Given the description of an element on the screen output the (x, y) to click on. 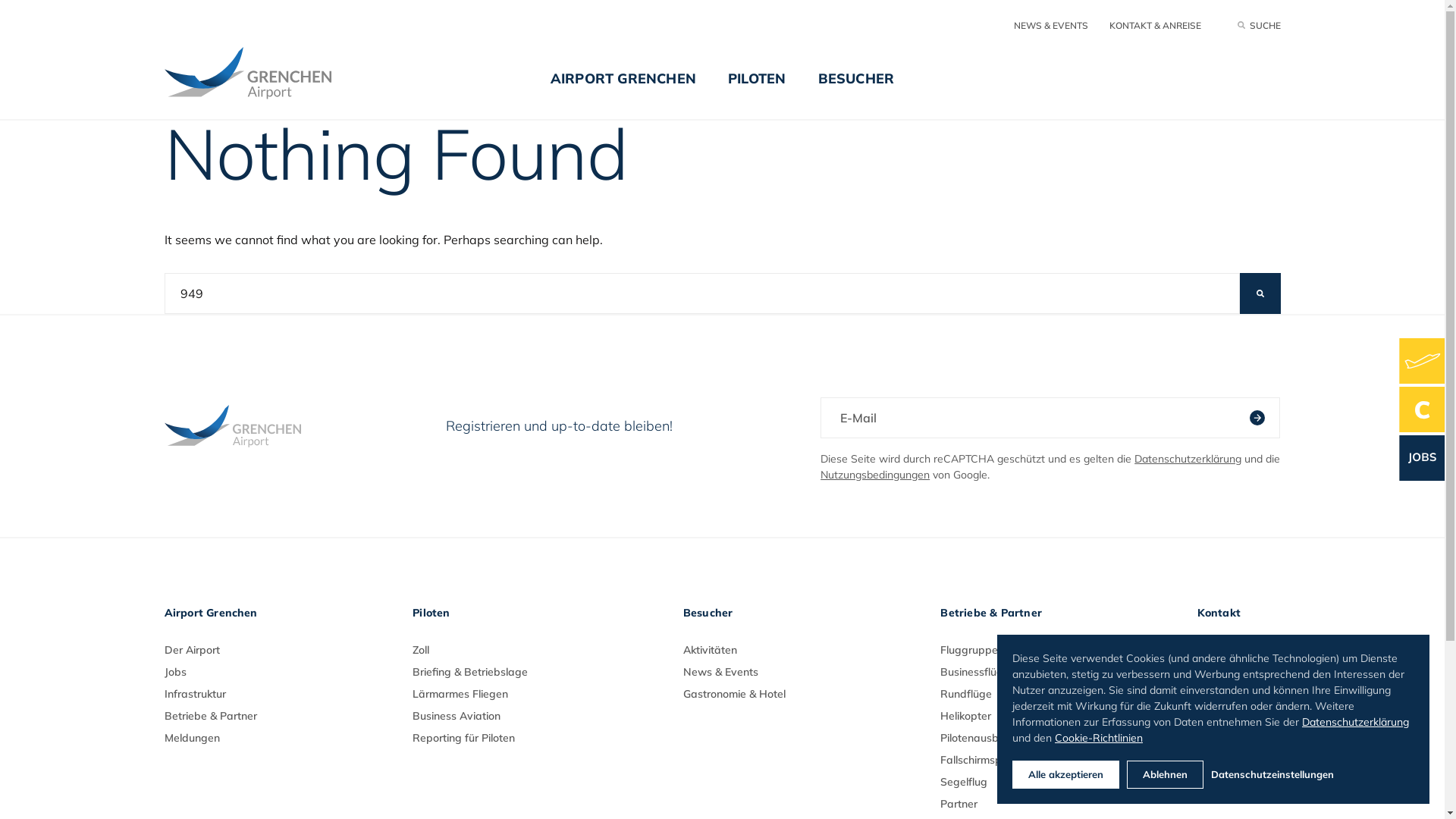
Der Airport Element type: text (191, 649)
Kontaktadresse Element type: text (1235, 671)
linkedin Element type: text (1273, 788)
Partner Element type: text (958, 803)
PILOTEN Element type: text (756, 89)
Gastronomie & Hotel Element type: text (734, 693)
BESUCHER Element type: text (856, 89)
Meldungen Element type: text (191, 737)
Nutzungsbedingungen Element type: text (874, 474)
instagram Element type: text (1203, 788)
News & Events Element type: text (720, 671)
Helikopter Element type: text (965, 715)
NEWS & EVENTS Element type: text (1050, 24)
Grenchen Airport Element type: hover (246, 73)
Pilotenausbildung Element type: text (984, 737)
Business Aviation Element type: text (456, 715)
SEARCH Element type: text (1259, 293)
Anreise Element type: text (1214, 649)
Briefing & Betriebslage Element type: text (469, 671)
Infrastruktur Element type: text (194, 693)
Kontaktformular Element type: text (1236, 693)
Jobs Element type: text (174, 671)
AIRPORT GRENCHEN Element type: text (623, 89)
KONTAKT & ANREISE Element type: text (1154, 24)
Fallschirmspringer Element type: text (985, 759)
Cookie-Richtlinien Element type: text (1098, 736)
facebook Element type: text (1238, 788)
Ablehnen Element type: text (1164, 773)
Betriebe & Partner Element type: text (209, 715)
Datenschutzeinstellungen Element type: text (1312, 774)
Alle akzeptieren Element type: text (1065, 773)
Fluggruppen Element type: text (972, 649)
Zoll Element type: text (420, 649)
Segelflug Element type: text (963, 781)
Send Element type: text (1256, 417)
SUCHE Element type: text (1258, 24)
